Given the description of an element on the screen output the (x, y) to click on. 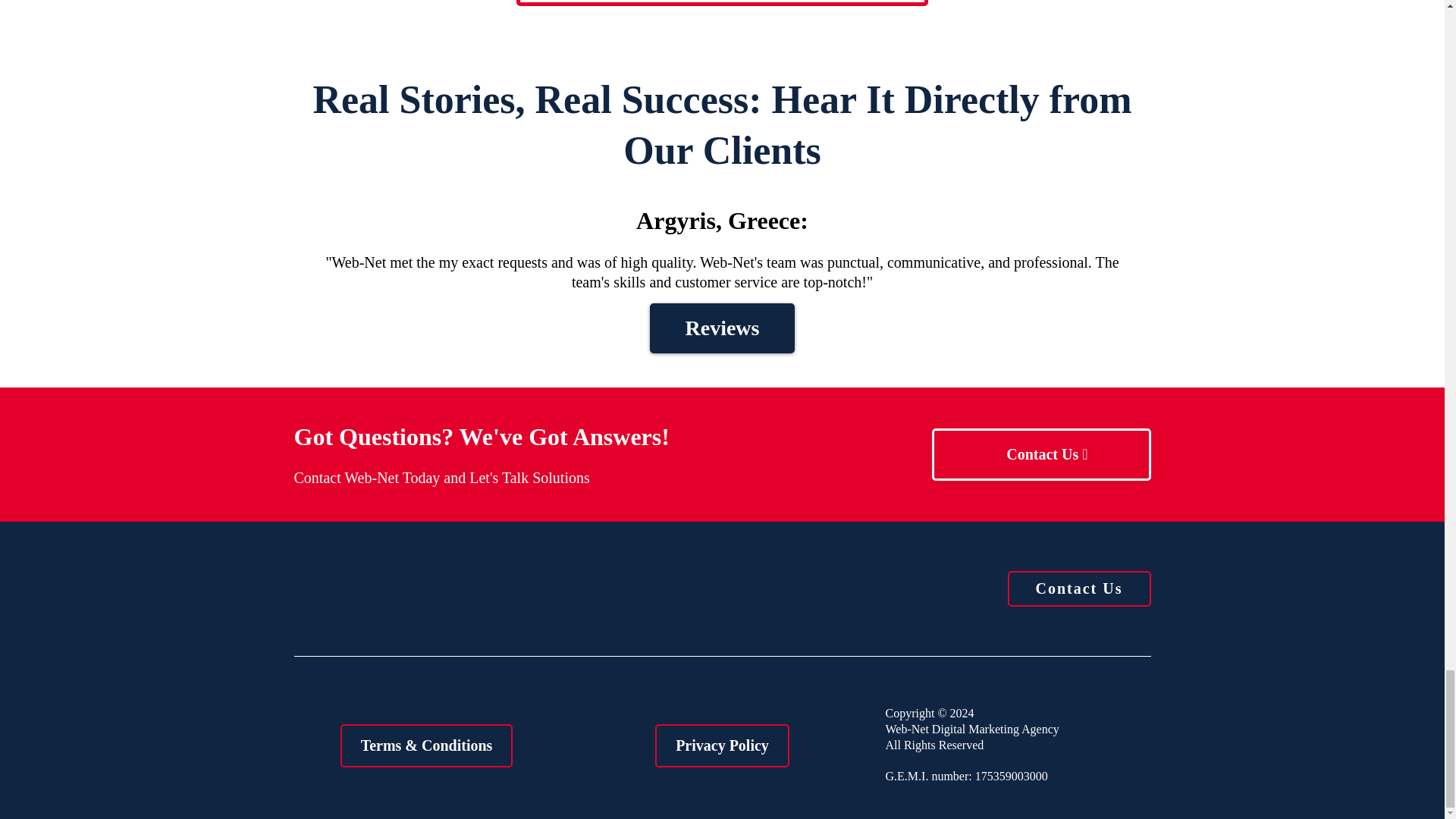
Contact Us (1078, 588)
Privacy Policy (722, 745)
Contact Us (1040, 454)
Reviews (721, 2)
